Given the description of an element on the screen output the (x, y) to click on. 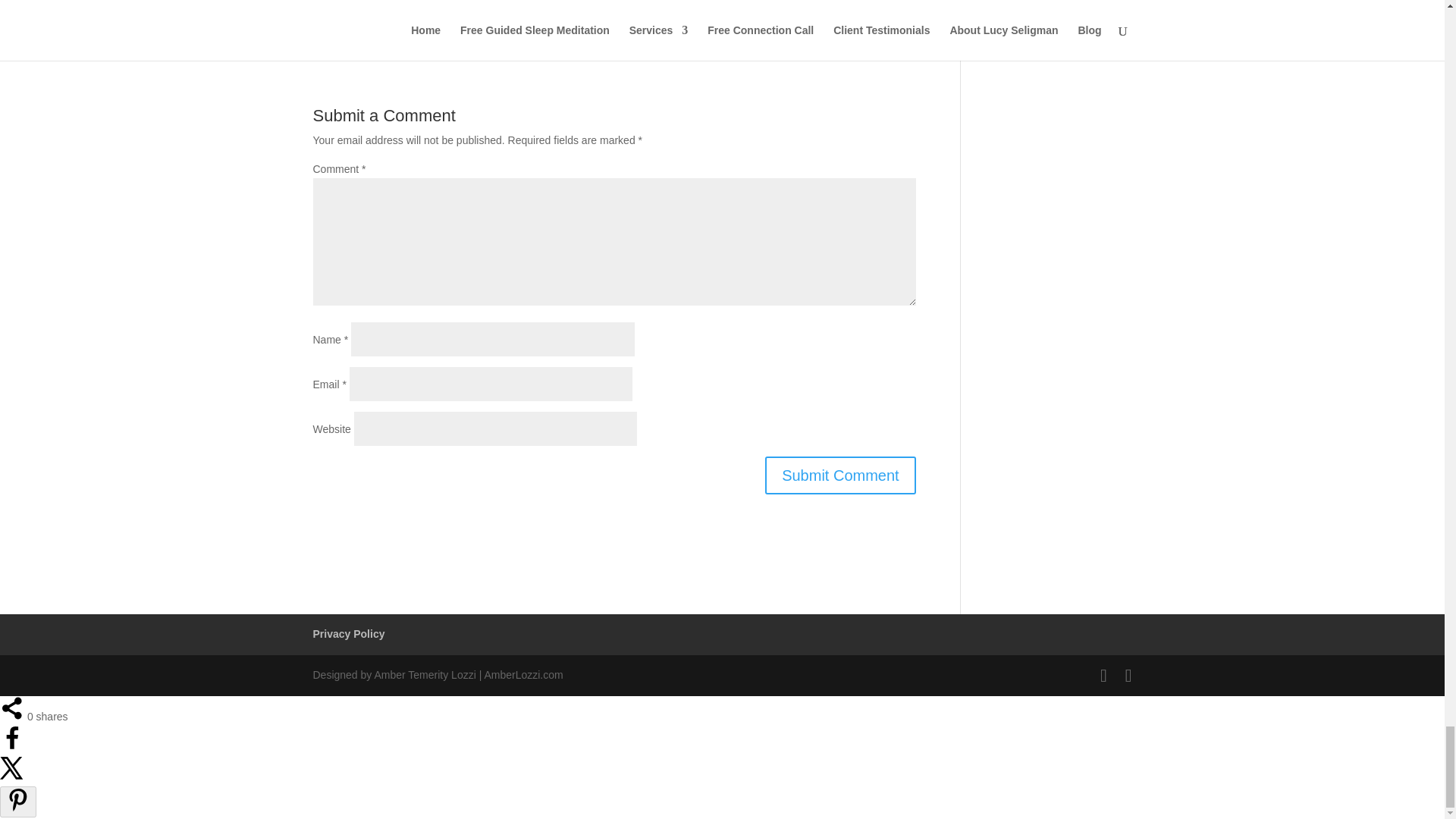
Submit Comment (840, 475)
Share on Facebook (12, 746)
Share on X (12, 776)
www.sleeplikeaboss.com (804, 28)
Privacy Policy (348, 633)
Save to Pinterest (18, 801)
Submit Comment (840, 475)
